Given the description of an element on the screen output the (x, y) to click on. 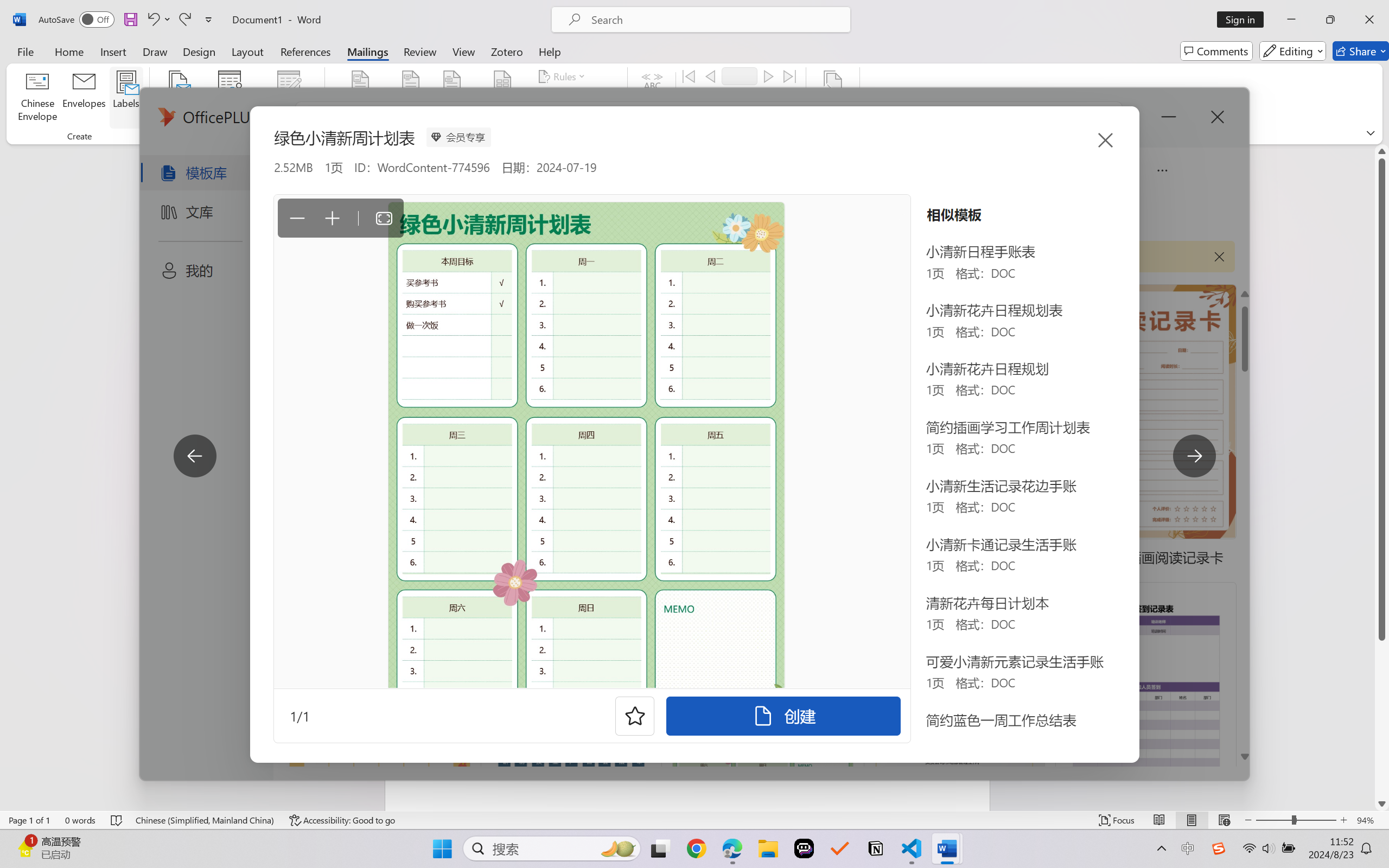
Rules (563, 75)
Envelopes... (84, 97)
Highlight Merge Fields (360, 97)
Check for Errors... (728, 118)
Sign in (1244, 19)
Redo Apply Quick Style (184, 19)
First (688, 75)
Line up (1382, 150)
